Given the description of an element on the screen output the (x, y) to click on. 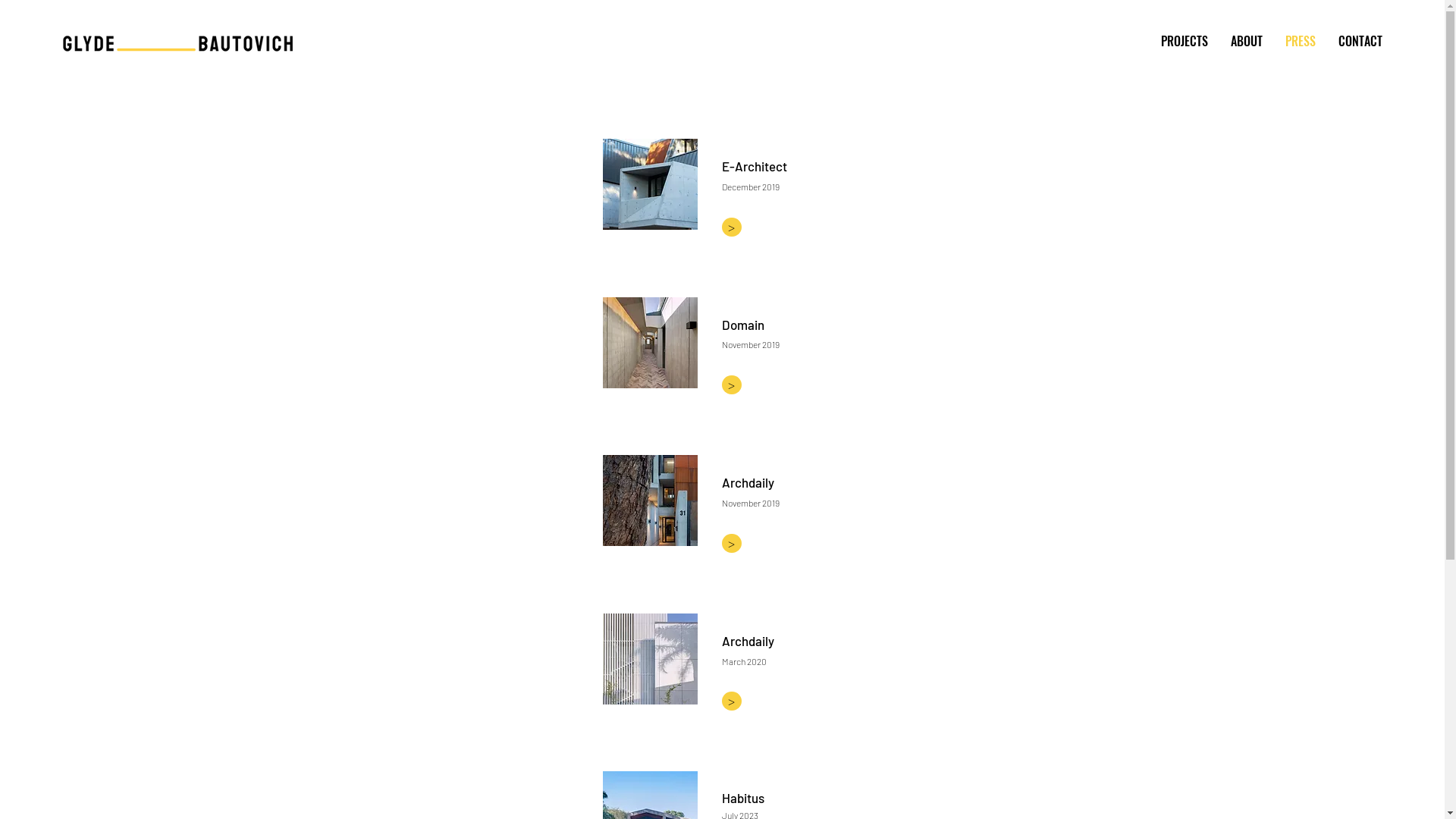
PROJECTS Element type: text (1184, 40)
ABOUT Element type: text (1246, 40)
> Element type: text (731, 226)
PRESS Element type: text (1300, 40)
CONTACT Element type: text (1360, 40)
> Element type: text (731, 384)
> Element type: text (731, 700)
> Element type: text (731, 542)
